Given the description of an element on the screen output the (x, y) to click on. 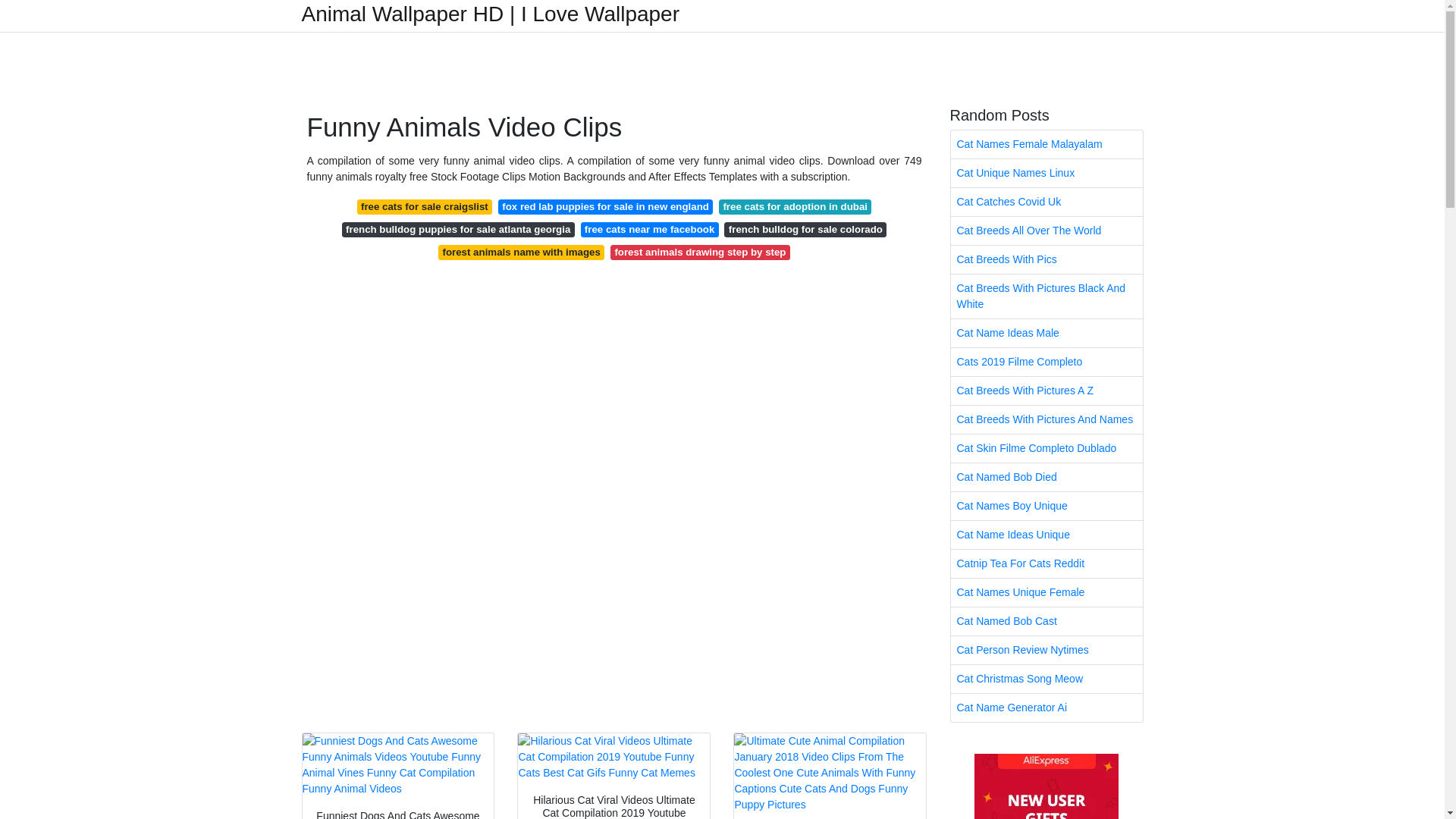
forest animals name with images (521, 252)
Cat Breeds All Over The World (1046, 230)
Cat Breeds With Pictures Black And White (1046, 296)
Cat Names Female Malayalam (1046, 144)
fox red lab puppies for sale in new england (605, 206)
free cats for sale craigslist (424, 206)
french bulldog for sale colorado (804, 229)
forest animals drawing step by step (700, 252)
Cat Unique Names Linux (1046, 172)
Cat Breeds With Pics (1046, 259)
Cat Name Ideas Male (1046, 333)
Cat Catches Covid Uk (1046, 202)
Cat Breeds With Pictures A Z (1046, 390)
french bulldog puppies for sale atlanta georgia (458, 229)
Cats 2019 Filme Completo (1046, 361)
